Given the description of an element on the screen output the (x, y) to click on. 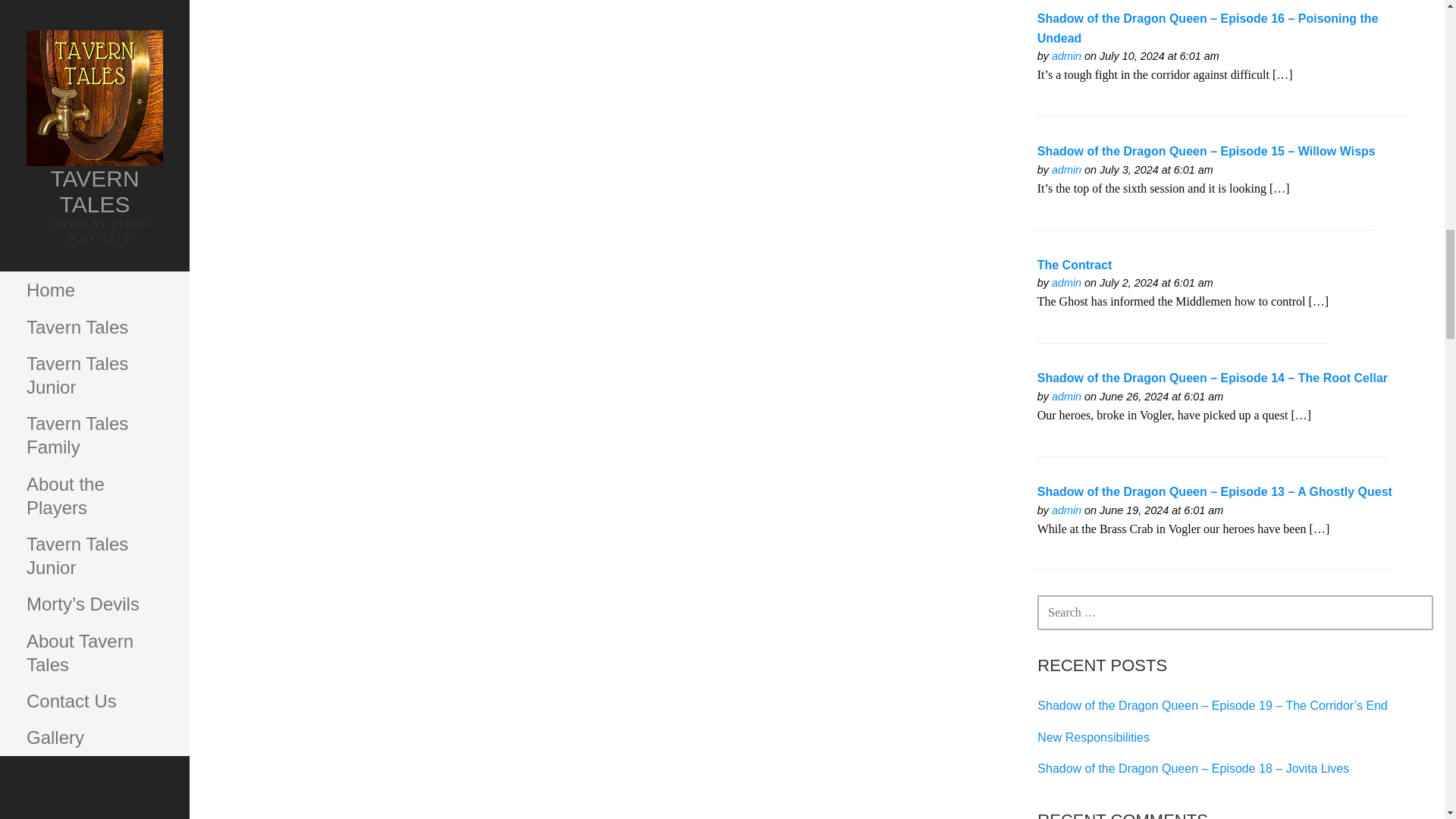
www.taverntales.ca (1066, 396)
www.taverntales.ca (1066, 169)
www.taverntales.ca (1066, 282)
www.taverntales.ca (1066, 510)
www.taverntales.ca (1066, 55)
